Given the description of an element on the screen output the (x, y) to click on. 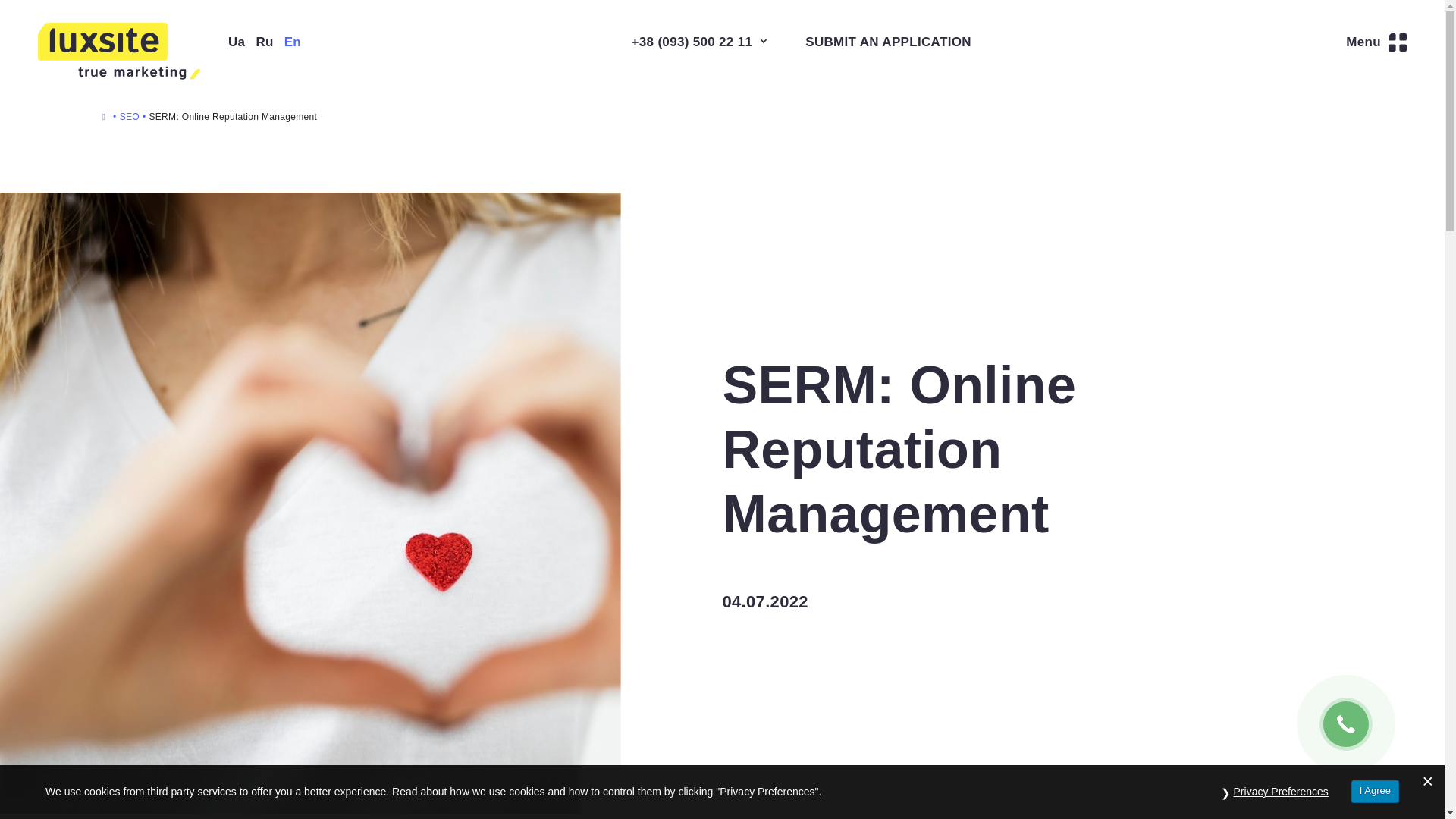
SEO (129, 116)
Menu (1375, 42)
Ua (236, 42)
SEO (129, 116)
En (292, 42)
Ru (264, 42)
SUBMIT AN APPLICATION (888, 42)
